Given the description of an element on the screen output the (x, y) to click on. 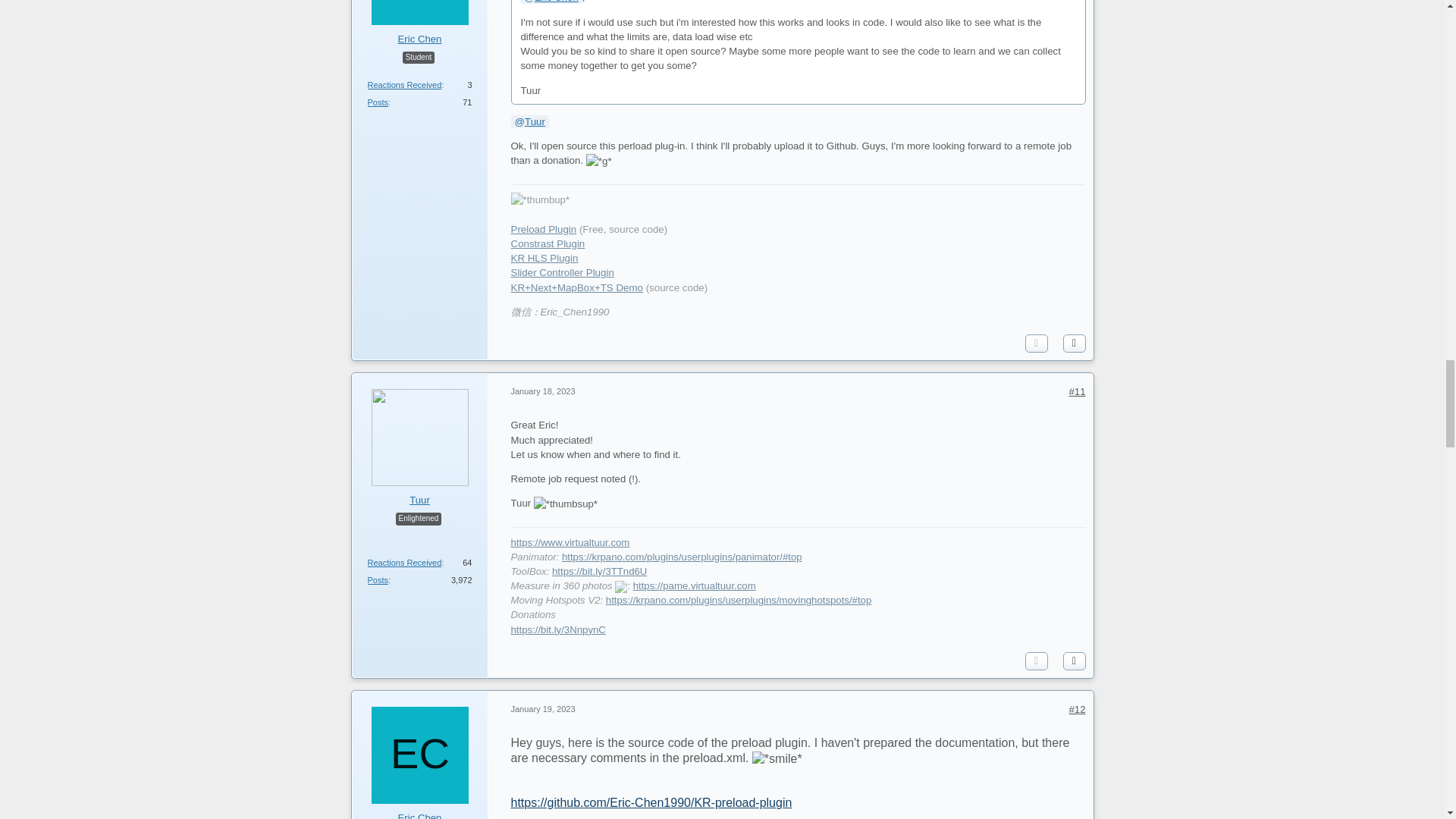
biggrin (598, 160)
thumbsup (565, 503)
smile (777, 758)
thumbup (540, 199)
